Given the description of an element on the screen output the (x, y) to click on. 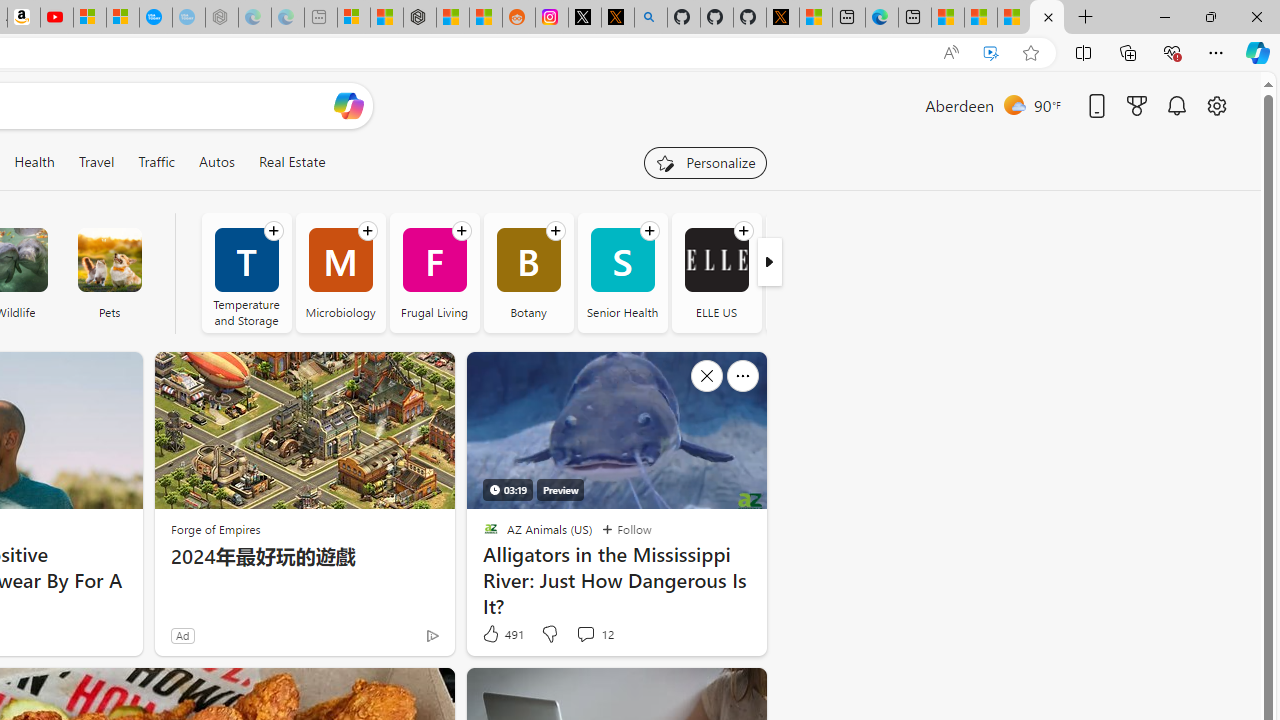
The most popular Google 'how to' searches - Sleeping (188, 17)
Senior Health (622, 272)
ELLE US (715, 272)
Temperature and Storage (245, 272)
Hide this story (706, 691)
